Given the description of an element on the screen output the (x, y) to click on. 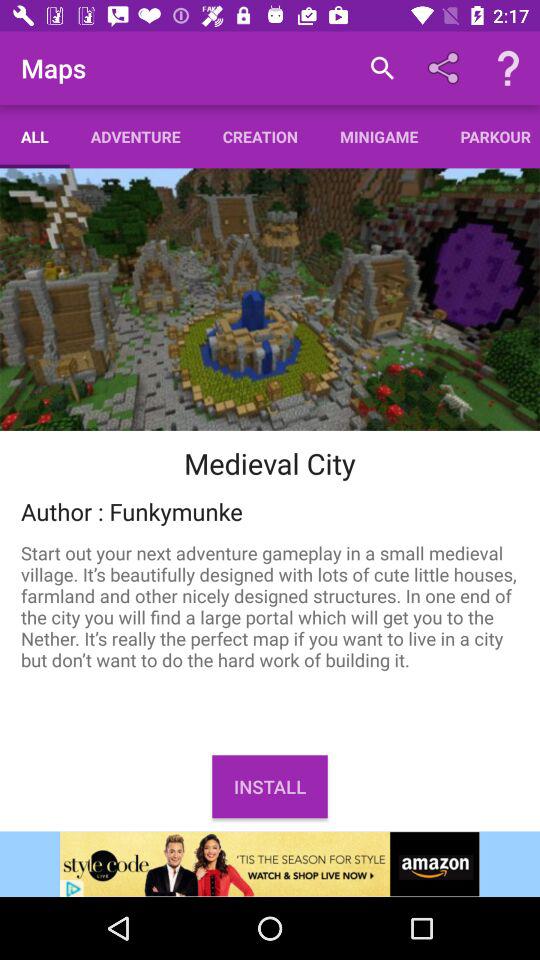
click on the option minigame (379, 136)
